Given the description of an element on the screen output the (x, y) to click on. 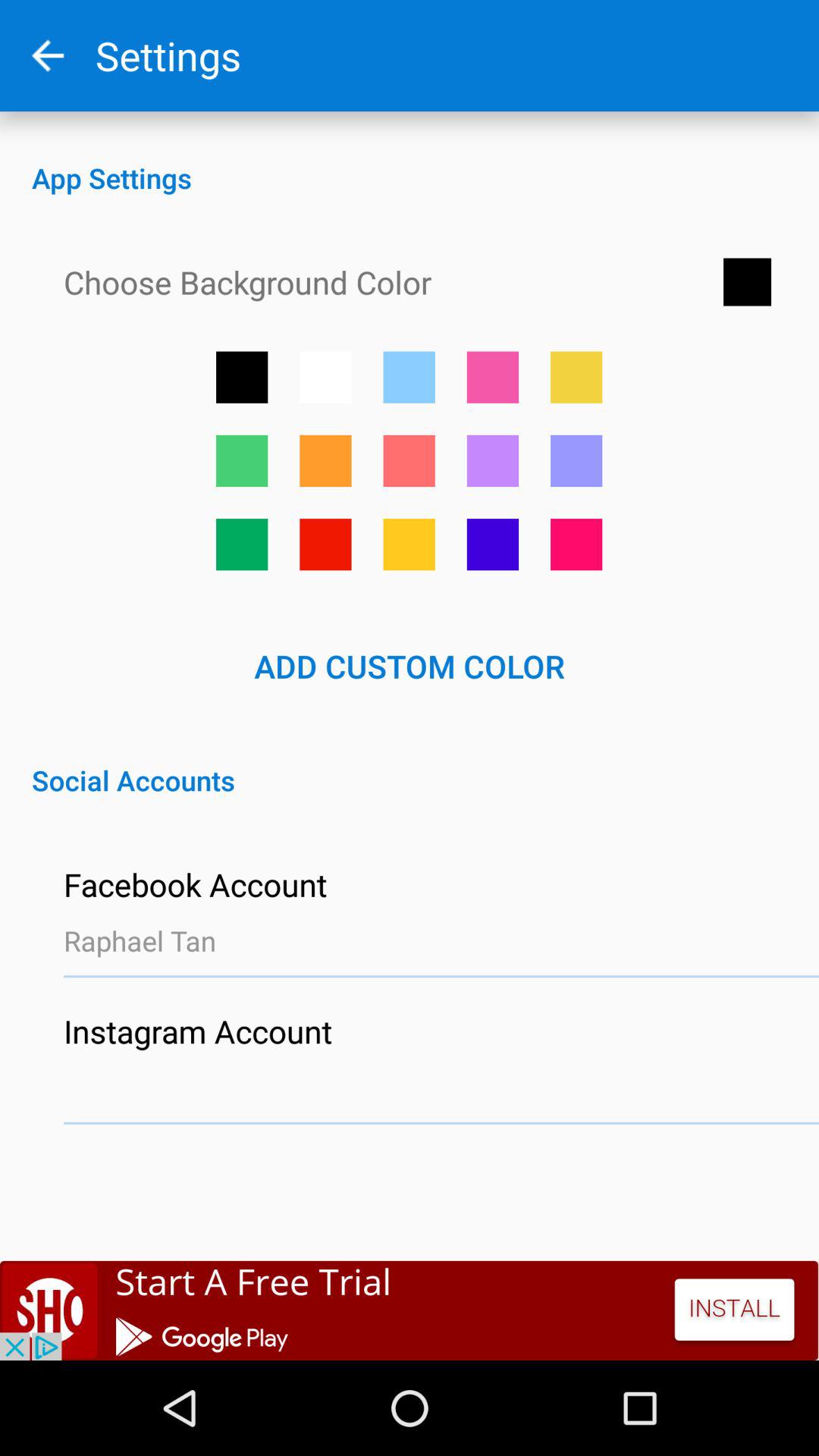
select color (576, 460)
